Given the description of an element on the screen output the (x, y) to click on. 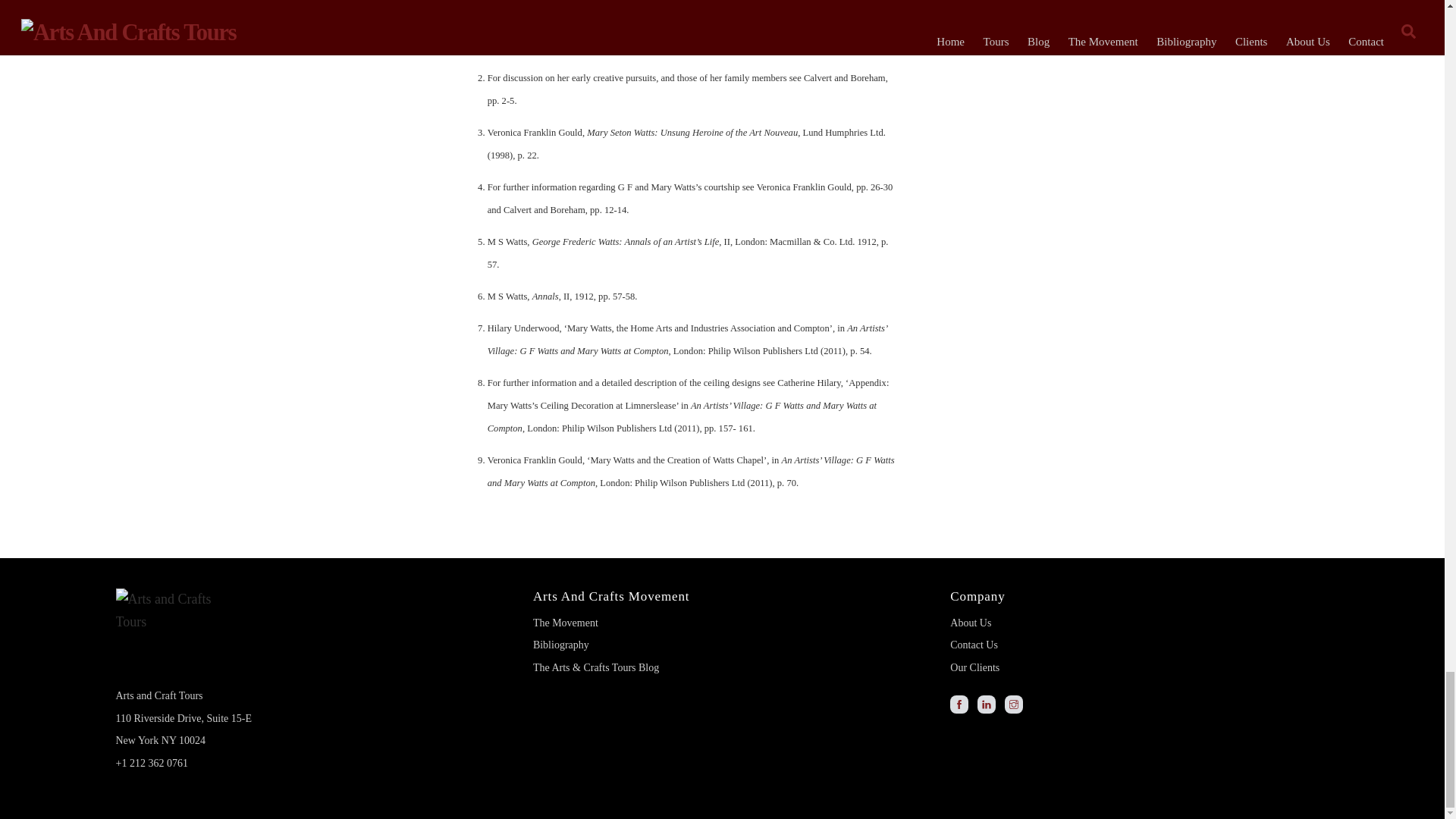
Bibliography (560, 644)
Our Clients (974, 667)
Arts and Crafts Tours (171, 636)
Contact Us (973, 644)
About Us (970, 622)
The Movement (565, 622)
